Given the description of an element on the screen output the (x, y) to click on. 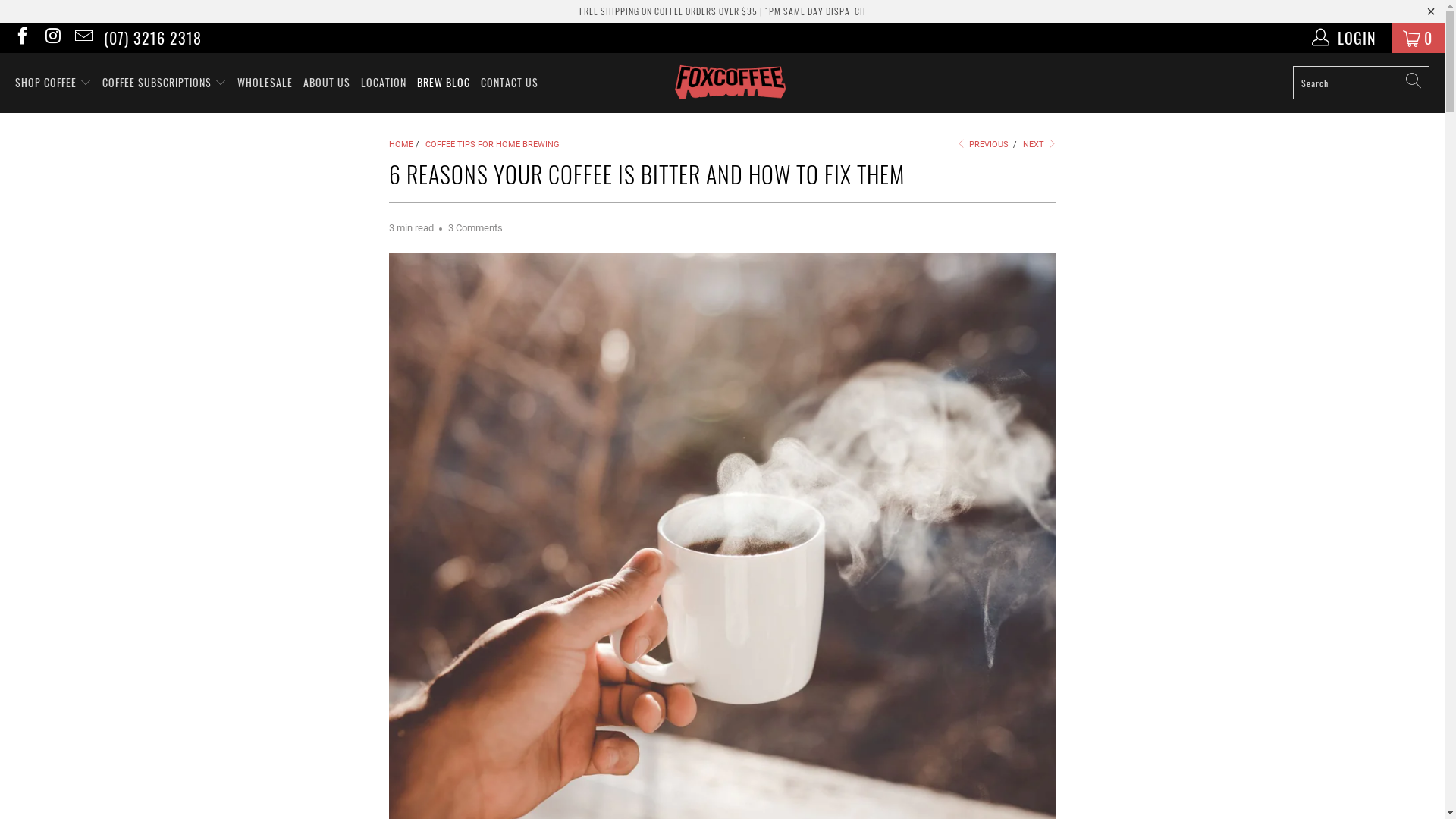
WHOLESALE Element type: text (264, 82)
3 Comments Element type: text (474, 227)
HOME Element type: text (400, 144)
Email Fox Coffee Element type: hover (82, 37)
NEXT Element type: text (1039, 144)
COFFEE SUBSCRIPTIONS Element type: text (164, 82)
Fox Coffee Element type: hover (729, 82)
ABOUT US Element type: text (326, 82)
(07) 3216 2318 Element type: text (152, 37)
LOCATION Element type: text (383, 82)
0 Element type: text (1417, 37)
BREW BLOG Element type: text (443, 82)
Fox Coffee on Facebook Element type: hover (21, 37)
PREVIOUS Element type: text (981, 144)
SHOP COFFEE Element type: text (53, 82)
Fox Coffee on Instagram Element type: hover (51, 37)
LOGIN Element type: text (1344, 37)
COFFEE TIPS FOR HOME BREWING Element type: text (491, 144)
CONTACT US Element type: text (509, 82)
